Given the description of an element on the screen output the (x, y) to click on. 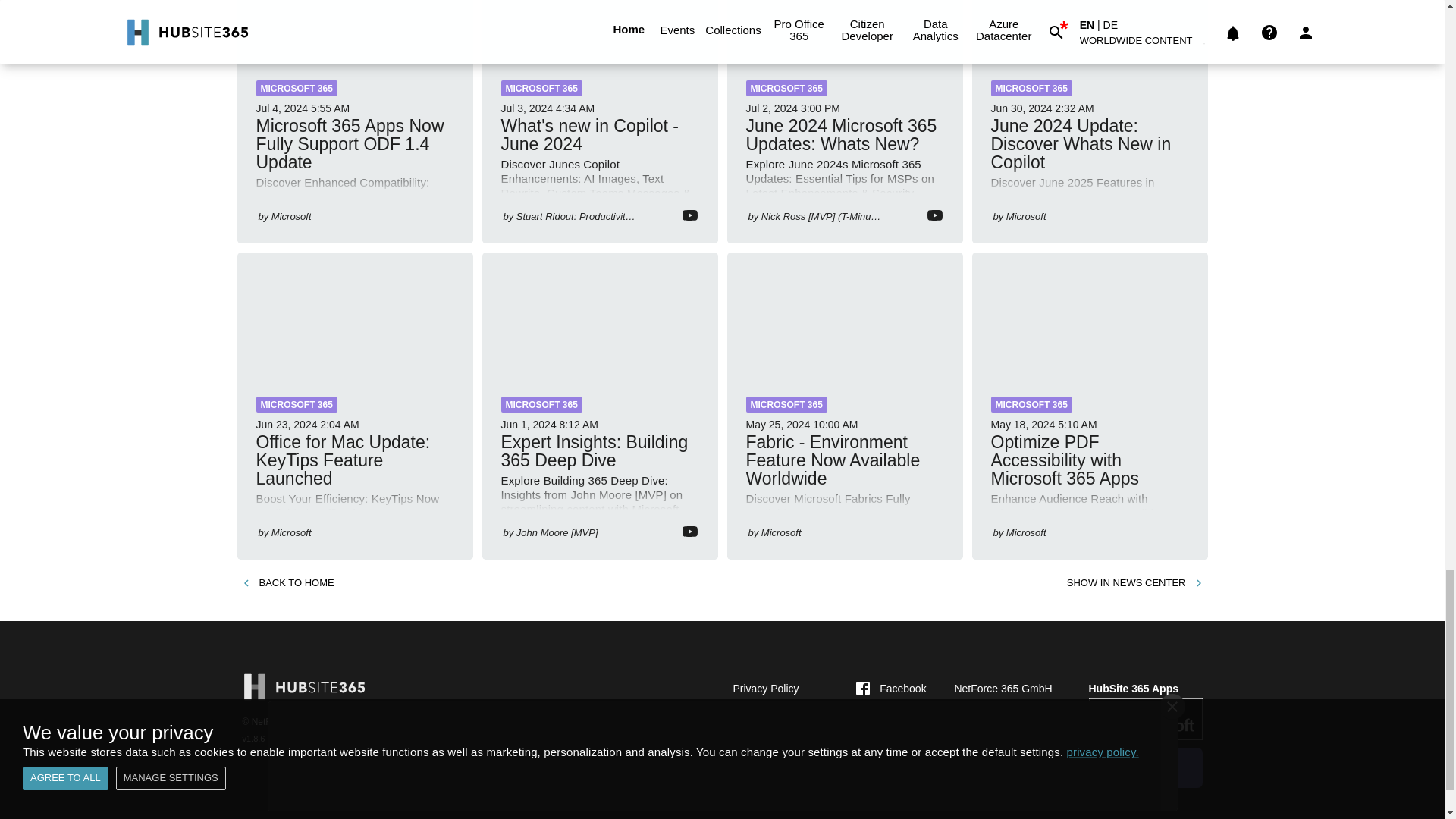
BACK TO HOME (286, 583)
June 2024 Microsoft 365 Updates: Whats New? (844, 30)
June 2024 Update: Discover Whats New in Copilot (1090, 30)
Expert Insights: Building 365 Deep Dive (599, 314)
Optimize PDF Accessibility with Microsoft 365 Apps (1090, 314)
Install app (1145, 767)
Microsoft 365 Apps Now Fully Support ODF 1.4 Update (353, 30)
SHOW IN NEWS CENTER (1135, 583)
Office for Mac Update: KeyTips Feature Launched (353, 314)
What's new in Copilot - June 2024 (599, 30)
Fabric - Environment Feature Now Available Worldwide (844, 314)
